Given the description of an element on the screen output the (x, y) to click on. 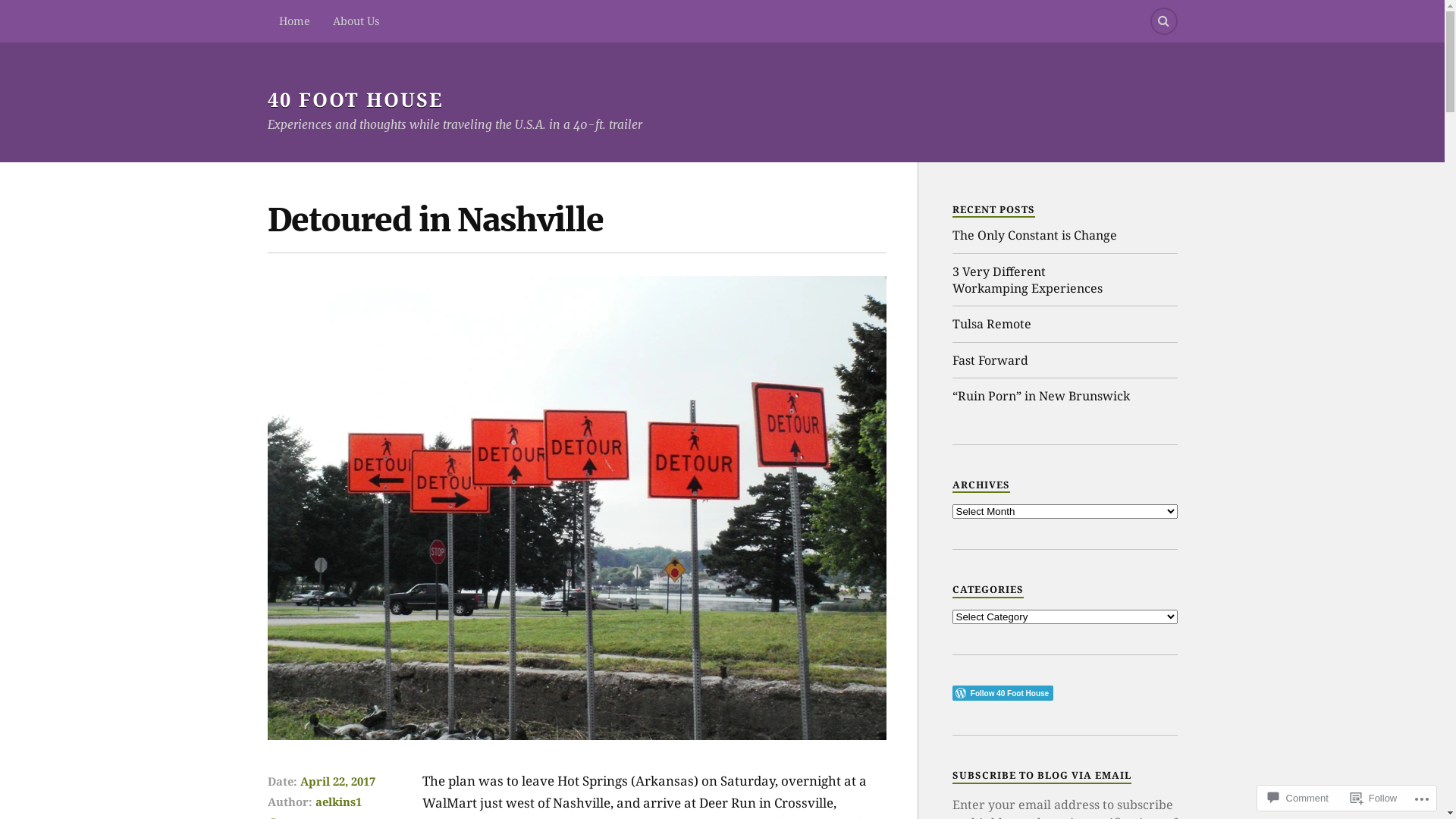
Follow Button Element type: hover (1064, 692)
April 22, 2017 Element type: text (337, 780)
Tulsa Remote Element type: text (991, 323)
3 Very Different Workamping Experiences Element type: text (1064, 280)
Comment Element type: text (1297, 797)
The Only Constant is Change Element type: text (1034, 234)
40 FOOT HOUSE Element type: text (354, 99)
Fast Forward Element type: text (990, 359)
Home Element type: text (293, 21)
CALAMITY Element type: text (299, 205)
About Us Element type: text (355, 21)
aelkins1 Element type: text (338, 801)
Follow Element type: text (1373, 797)
